Given the description of an element on the screen output the (x, y) to click on. 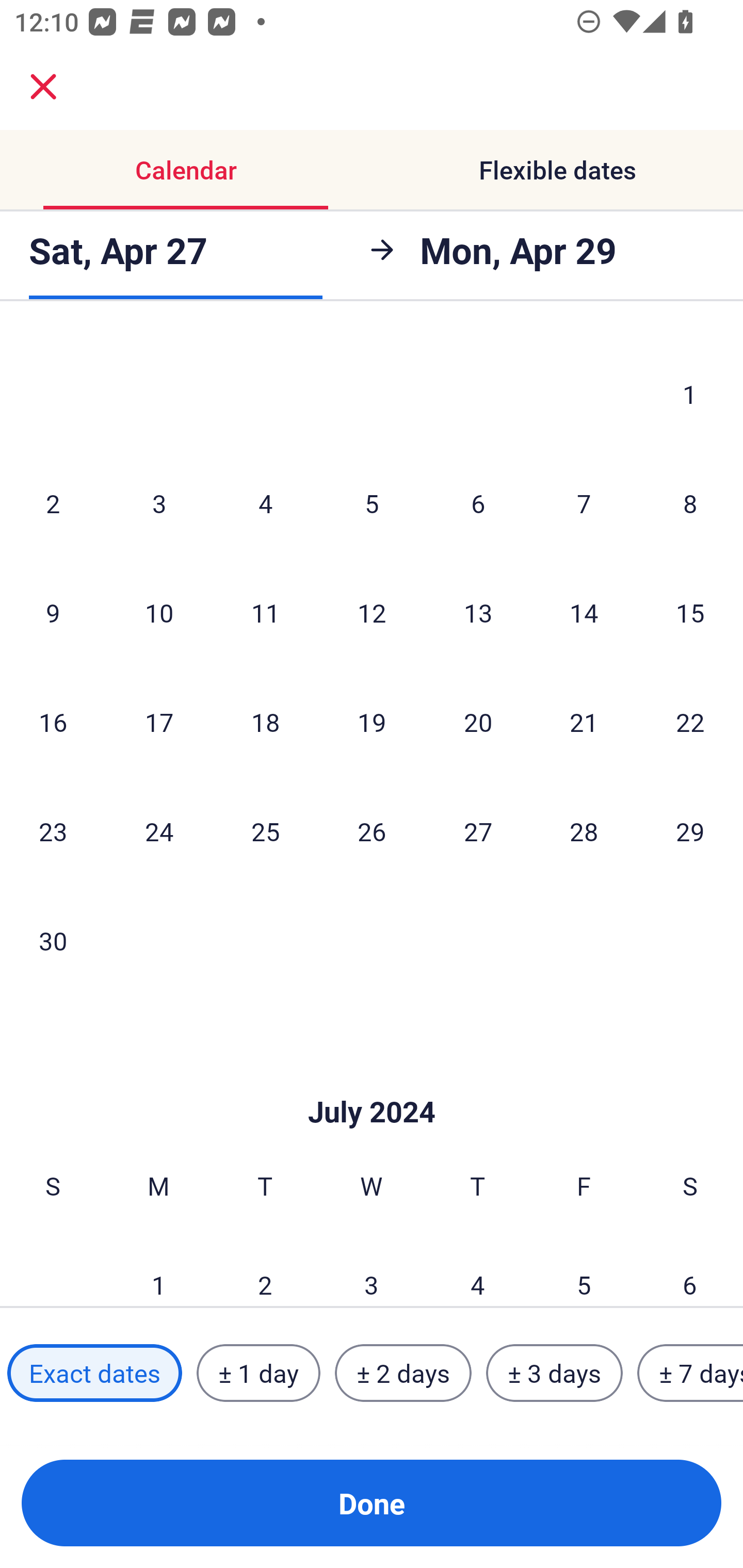
close. (43, 86)
Flexible dates (557, 170)
1 Saturday, June 1, 2024 (689, 393)
2 Sunday, June 2, 2024 (53, 503)
3 Monday, June 3, 2024 (159, 503)
4 Tuesday, June 4, 2024 (265, 503)
5 Wednesday, June 5, 2024 (371, 503)
6 Thursday, June 6, 2024 (477, 503)
7 Friday, June 7, 2024 (584, 503)
8 Saturday, June 8, 2024 (690, 503)
9 Sunday, June 9, 2024 (53, 611)
10 Monday, June 10, 2024 (159, 611)
11 Tuesday, June 11, 2024 (265, 611)
12 Wednesday, June 12, 2024 (371, 611)
13 Thursday, June 13, 2024 (477, 611)
14 Friday, June 14, 2024 (584, 611)
15 Saturday, June 15, 2024 (690, 611)
16 Sunday, June 16, 2024 (53, 721)
17 Monday, June 17, 2024 (159, 721)
18 Tuesday, June 18, 2024 (265, 721)
19 Wednesday, June 19, 2024 (371, 721)
20 Thursday, June 20, 2024 (477, 721)
21 Friday, June 21, 2024 (584, 721)
22 Saturday, June 22, 2024 (690, 721)
23 Sunday, June 23, 2024 (53, 830)
24 Monday, June 24, 2024 (159, 830)
25 Tuesday, June 25, 2024 (265, 830)
26 Wednesday, June 26, 2024 (371, 830)
27 Thursday, June 27, 2024 (477, 830)
28 Friday, June 28, 2024 (584, 830)
29 Saturday, June 29, 2024 (690, 830)
30 Sunday, June 30, 2024 (53, 940)
Skip to Done (371, 1081)
1 Monday, July 1, 2024 (158, 1269)
2 Tuesday, July 2, 2024 (264, 1269)
3 Wednesday, July 3, 2024 (371, 1269)
4 Thursday, July 4, 2024 (477, 1269)
5 Friday, July 5, 2024 (583, 1269)
6 Saturday, July 6, 2024 (689, 1269)
Exact dates (94, 1372)
± 1 day (258, 1372)
± 2 days (403, 1372)
± 3 days (553, 1372)
± 7 days (690, 1372)
Done (371, 1502)
